Given the description of an element on the screen output the (x, y) to click on. 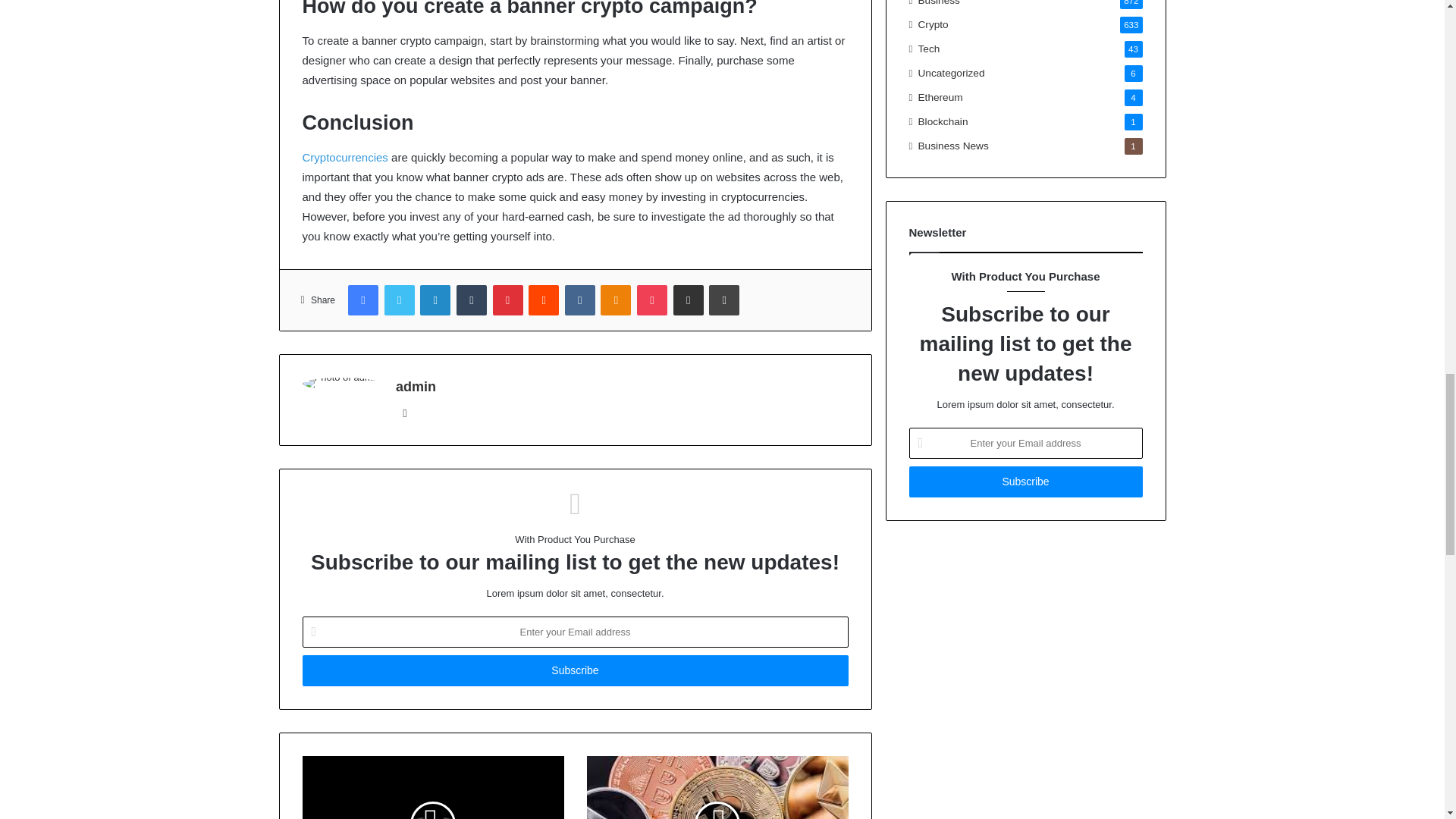
Subscribe (574, 670)
Subscribe (1025, 481)
